Given the description of an element on the screen output the (x, y) to click on. 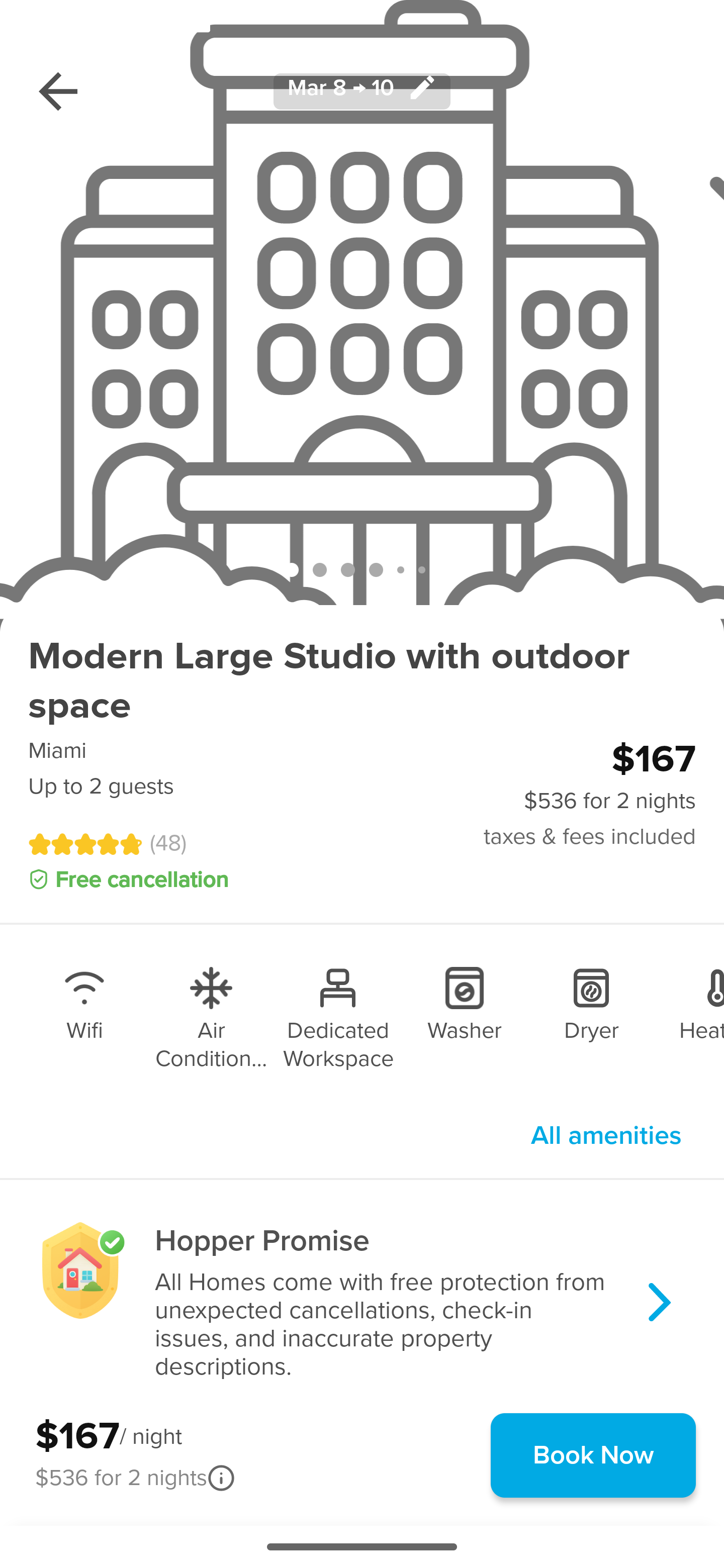
Mar 8 → 10 (361, 90)
Modern Large Studio with outdoor space (361, 681)
All amenities (606, 1134)
Book Now (592, 1454)
